Given the description of an element on the screen output the (x, y) to click on. 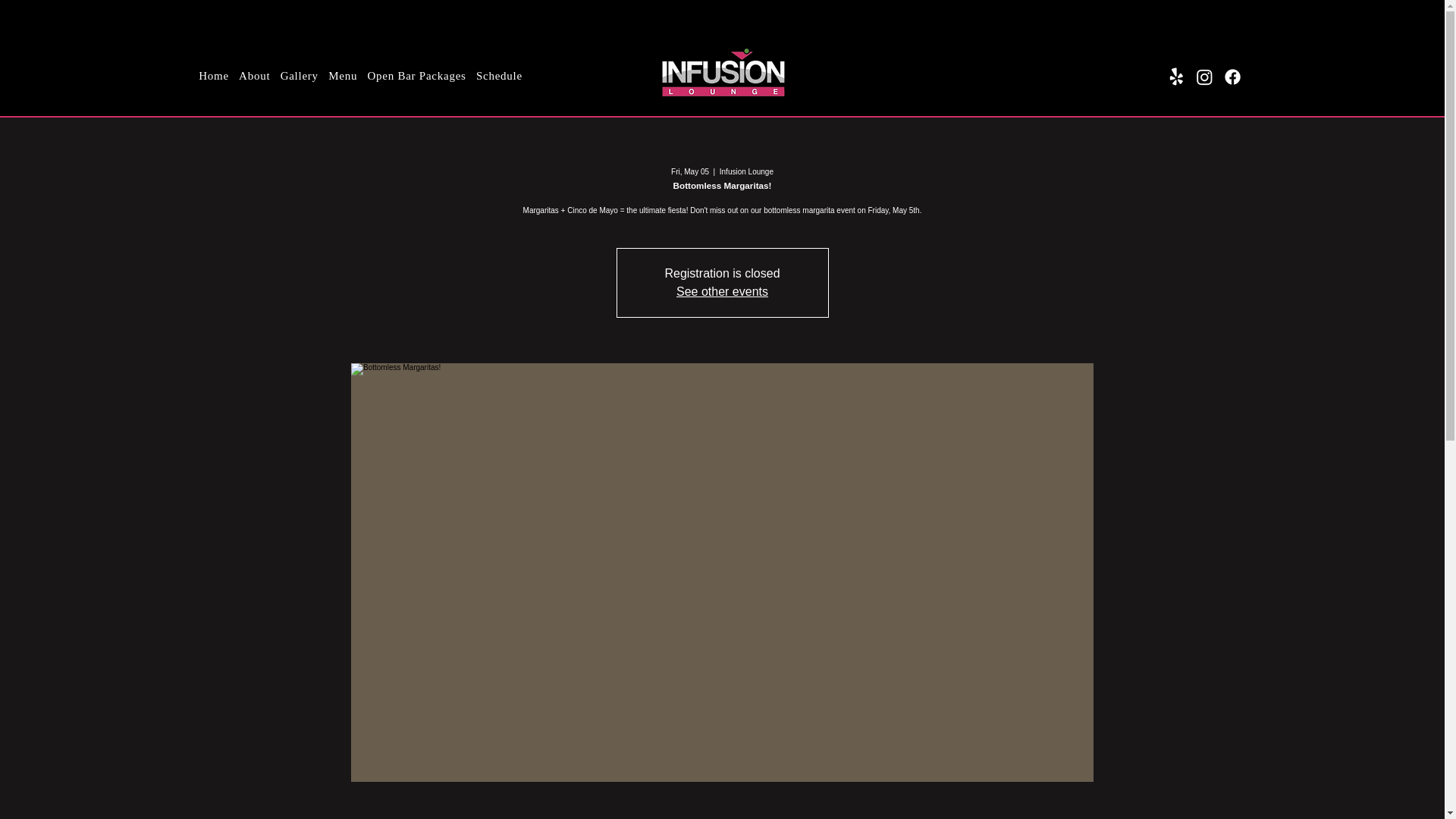
Gallery (299, 75)
Schedule (498, 75)
See other events (722, 291)
Menu (342, 75)
About (253, 75)
Open Bar Packages (416, 75)
Home (213, 75)
